Given the description of an element on the screen output the (x, y) to click on. 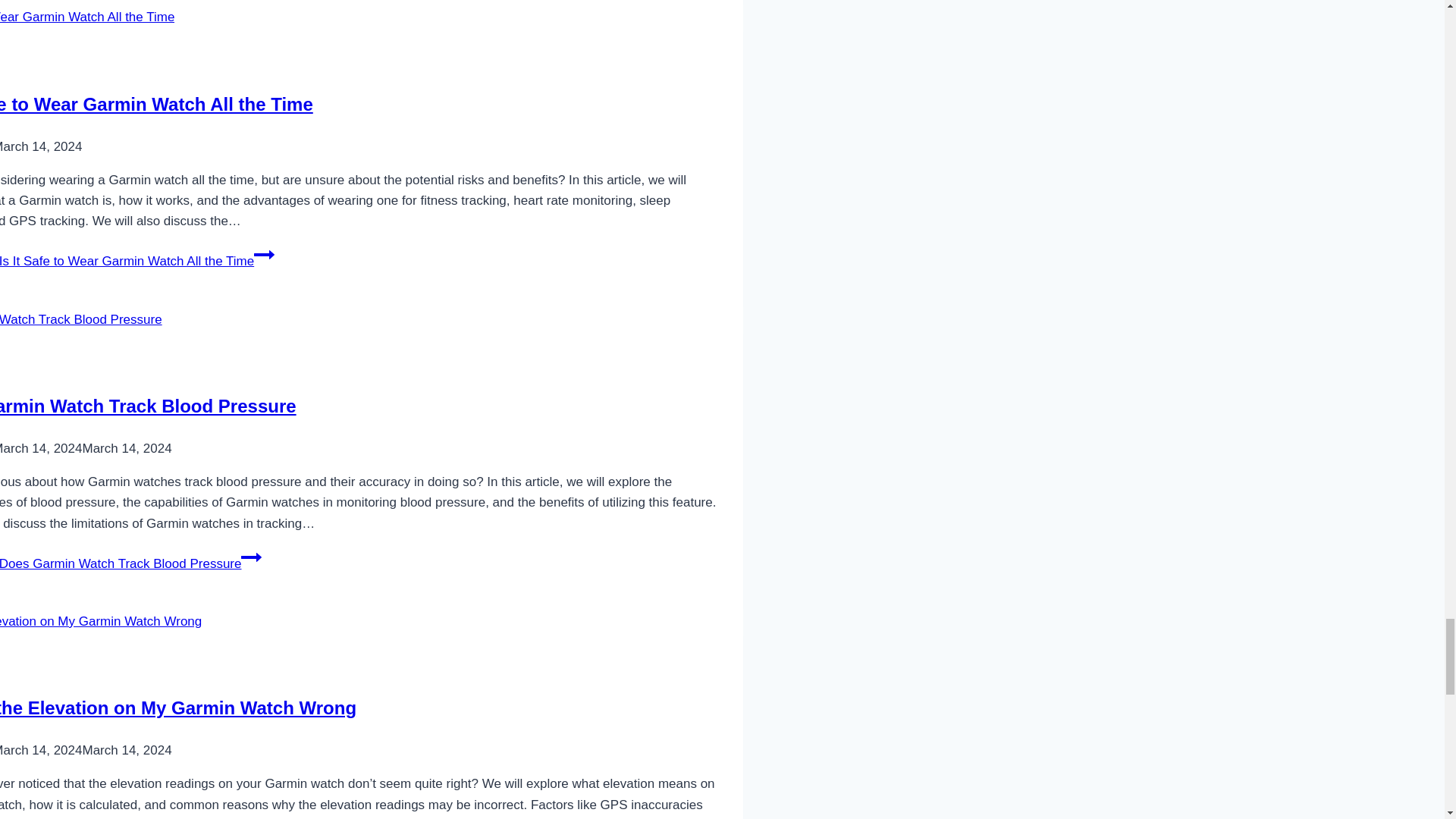
Is It Safe to Wear Garmin Watch All the Time (156, 104)
Continue (251, 557)
Continue (264, 254)
Why is the Elevation on My Garmin Watch Wrong (178, 707)
Read More Does Garmin Watch Track Blood PressureContinue (131, 563)
Does Garmin Watch Track Blood Pressure (148, 405)
